Given the description of an element on the screen output the (x, y) to click on. 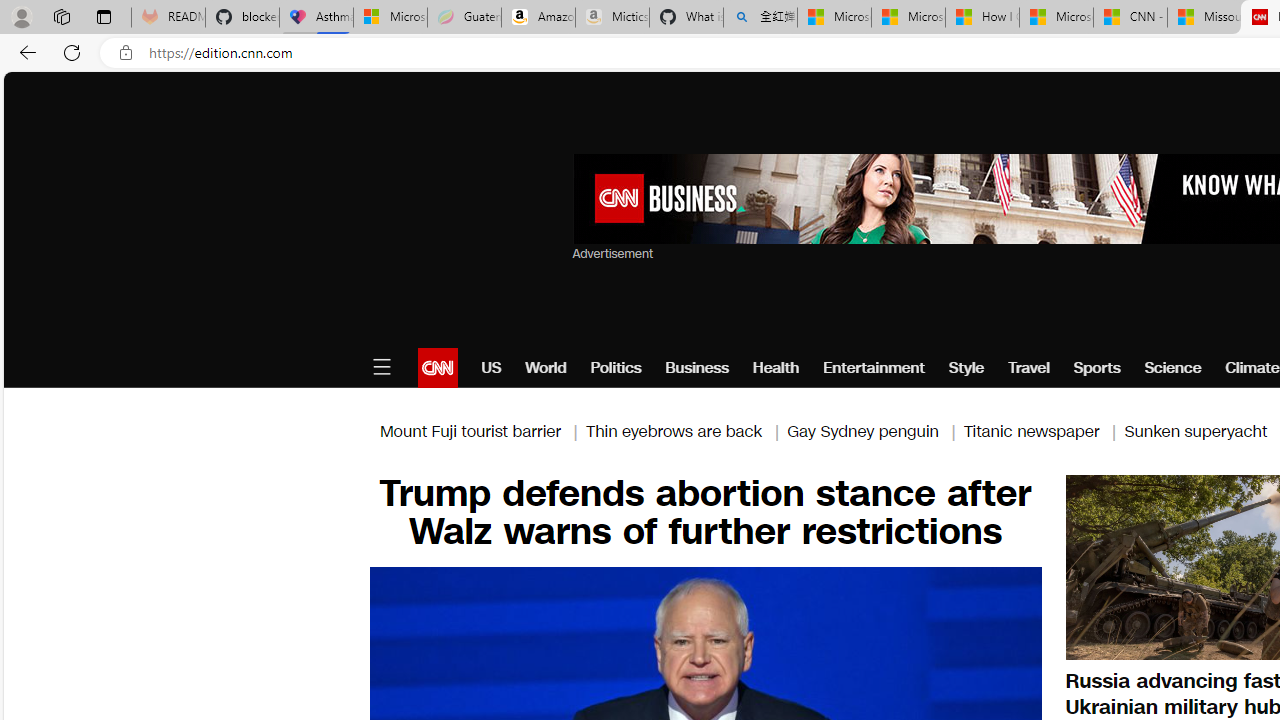
Climate (1252, 367)
World (545, 367)
Thin eyebrows are back | (686, 430)
Politics (616, 367)
